Given the description of an element on the screen output the (x, y) to click on. 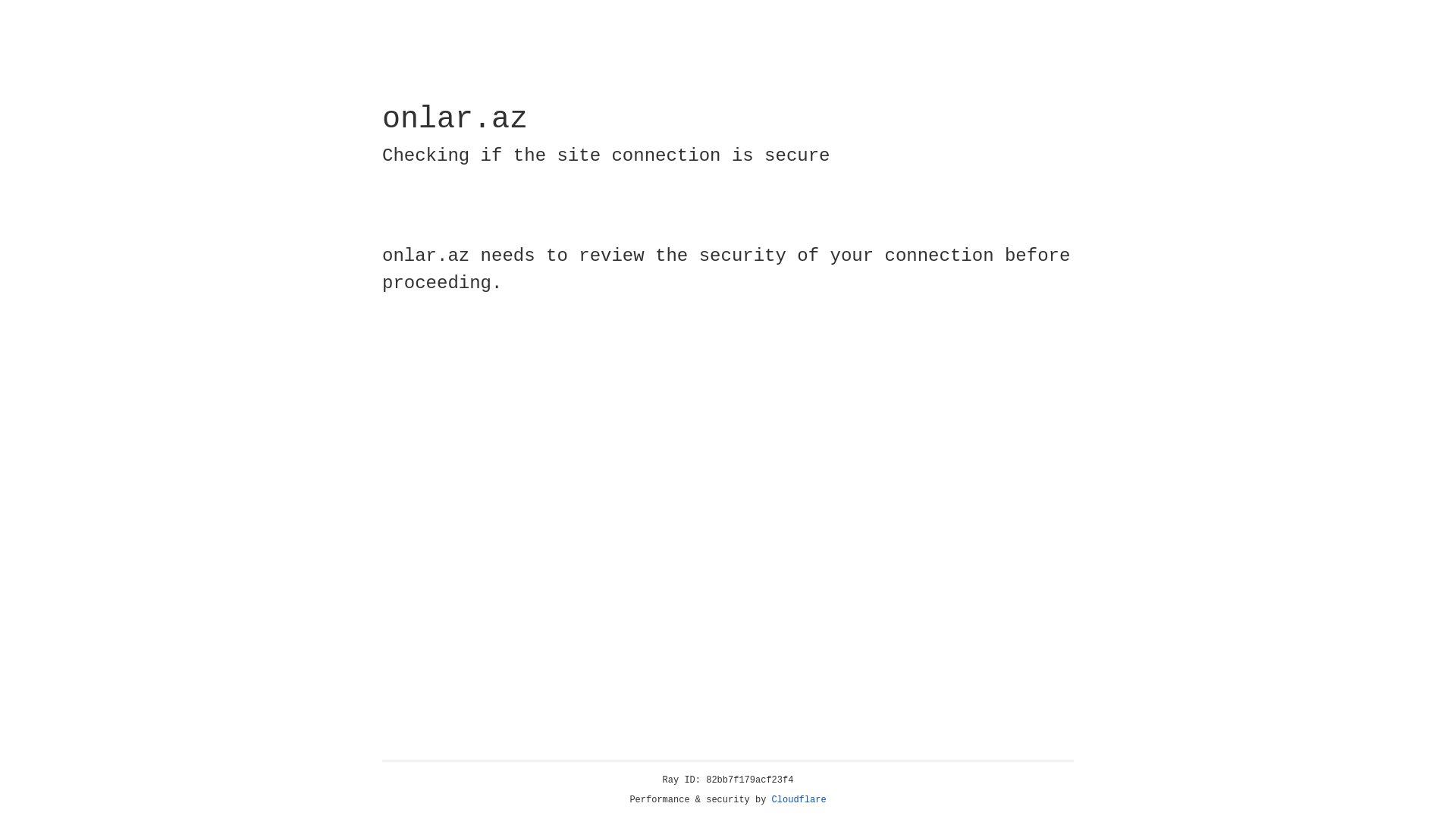
Cloudflare Element type: text (798, 799)
